Given the description of an element on the screen output the (x, y) to click on. 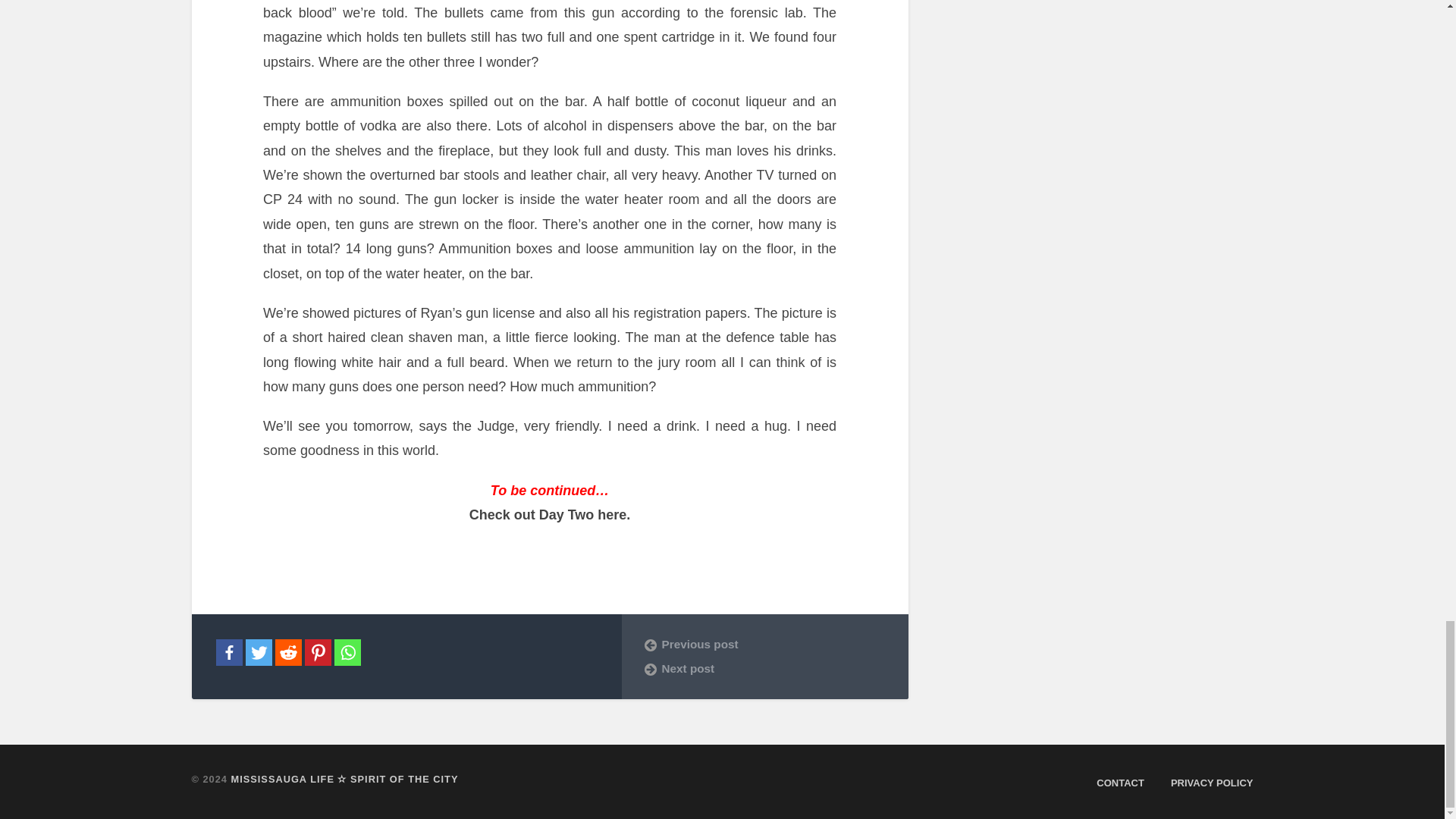
Whatsapp (346, 652)
Twitter (259, 652)
Next post (765, 668)
Pinterest (317, 652)
Previous post (765, 644)
Reddit (288, 652)
Facebook (228, 652)
